Given the description of an element on the screen output the (x, y) to click on. 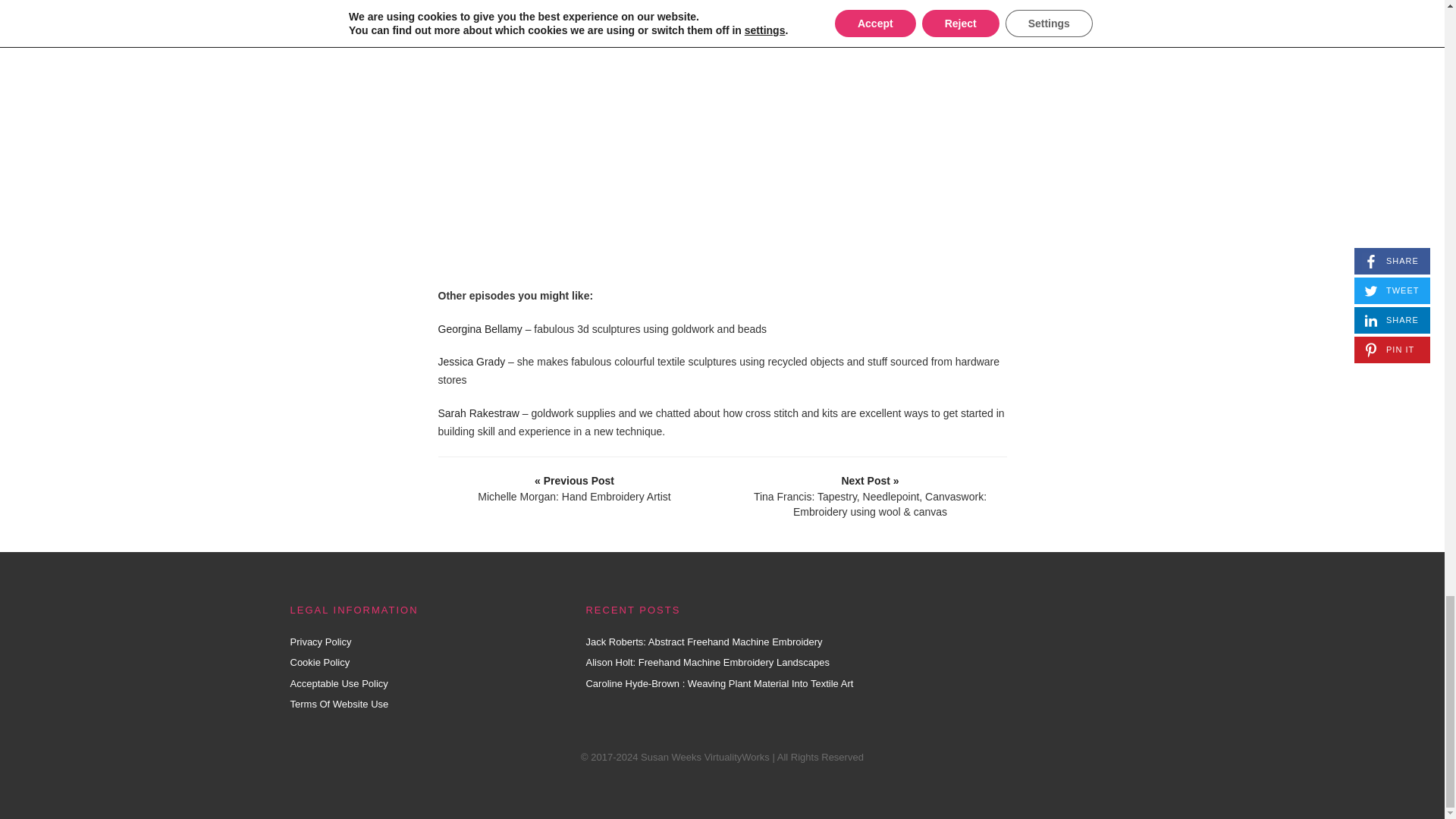
Michelle Morgan: Hand Embroidery Artist (574, 488)
Jessica Grady (471, 361)
Cookie Policy (319, 662)
Sarah Rakestraw (478, 413)
Georgina Bellamy (480, 328)
Privacy Policy (319, 641)
